Given the description of an element on the screen output the (x, y) to click on. 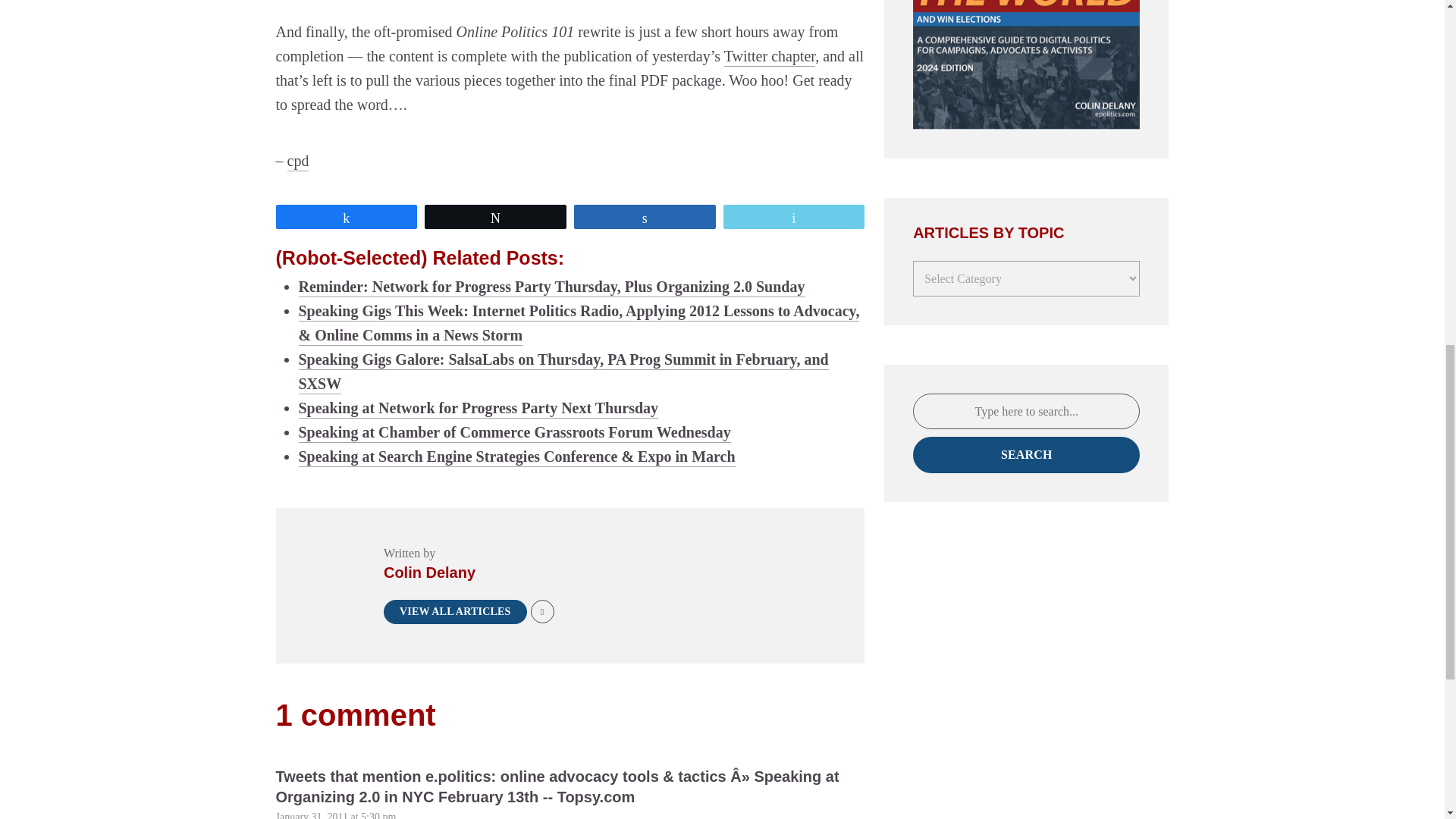
Twitter chapter (769, 56)
VIEW ALL ARTICLES (455, 610)
January 31, 2011 at 5:30 pm (336, 815)
Speaking at Chamber of Commerce Grassroots Forum Wednesday (514, 432)
Speaking at Network for Progress Party Next Thursday (478, 407)
SEARCH (1026, 454)
Speaking at Network for Progress Party Next Thursday (478, 407)
cpd (297, 161)
Speaking at Chamber of Commerce Grassroots Forum Wednesday (514, 432)
